Given the description of an element on the screen output the (x, y) to click on. 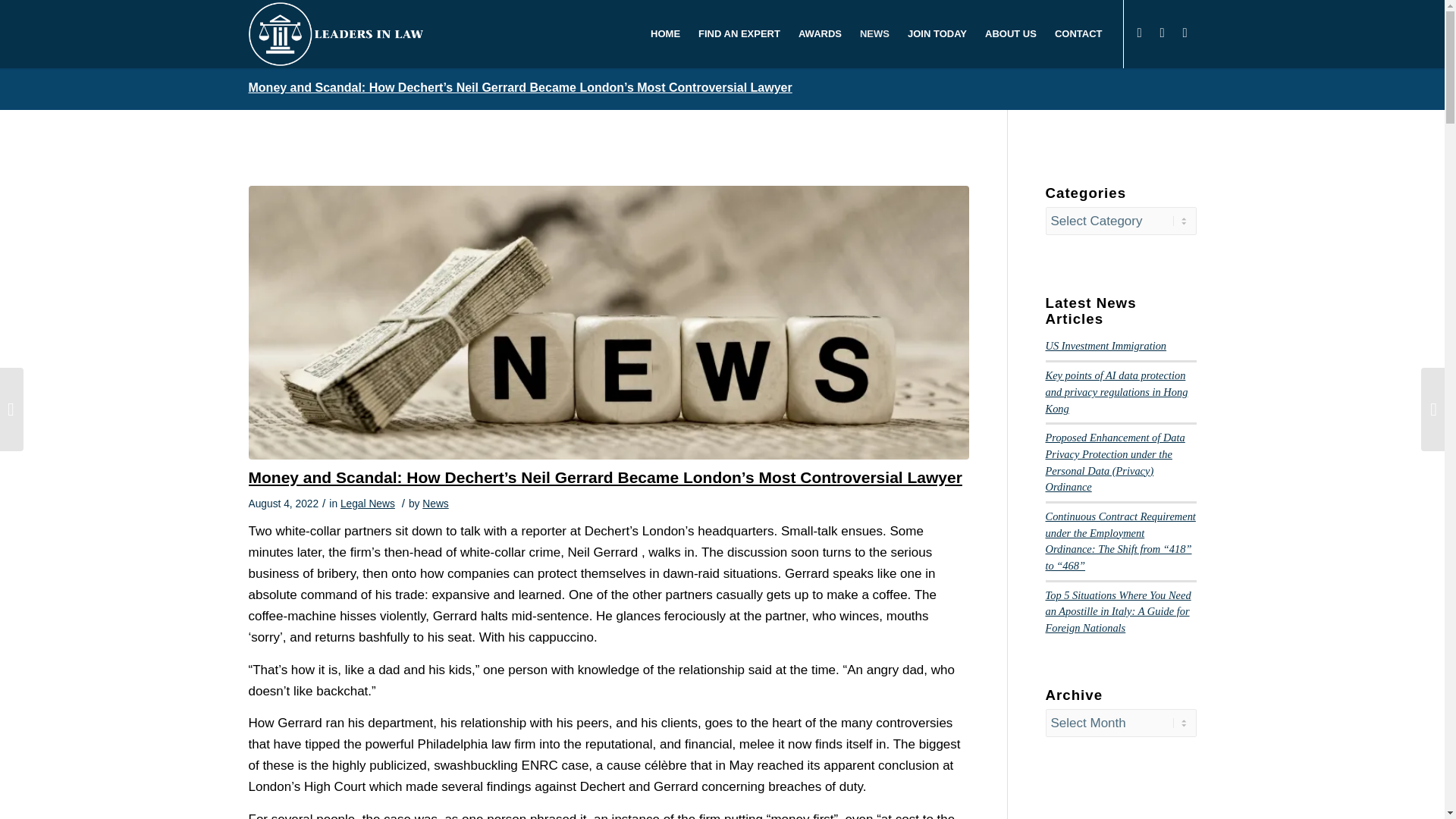
FIND AN EXPERT (738, 33)
News (435, 503)
Legal News (367, 503)
Posts by News (435, 503)
AWARDS (819, 33)
Twitter (1184, 33)
JOIN TODAY (936, 33)
LinkedIn (1139, 33)
CONTACT (1078, 33)
Instagram (1162, 33)
ABOUT US (1010, 33)
